Given the description of an element on the screen output the (x, y) to click on. 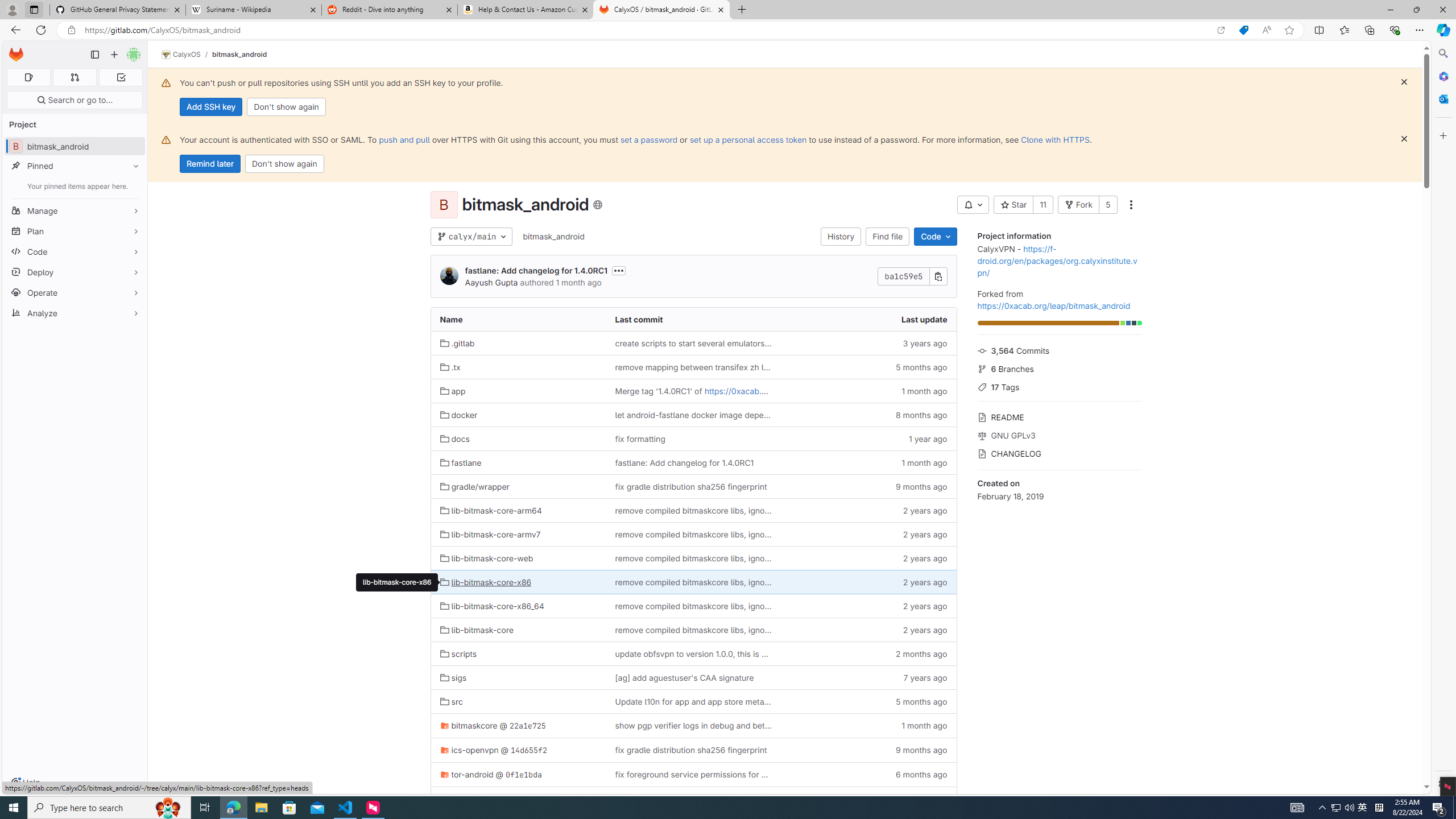
3 years ago (868, 342)
src (517, 701)
set up a personal access token (747, 139)
lib-bitmask-core-web (485, 558)
lib-bitmask-core-x86 (397, 581)
Clone with HTTPS (1054, 139)
calyx/main (470, 236)
Help & Contact Us - Amazon Customer Service (525, 9)
gradle/wrapper (517, 486)
.gitlab (517, 342)
set a password (649, 139)
